Given the description of an element on the screen output the (x, y) to click on. 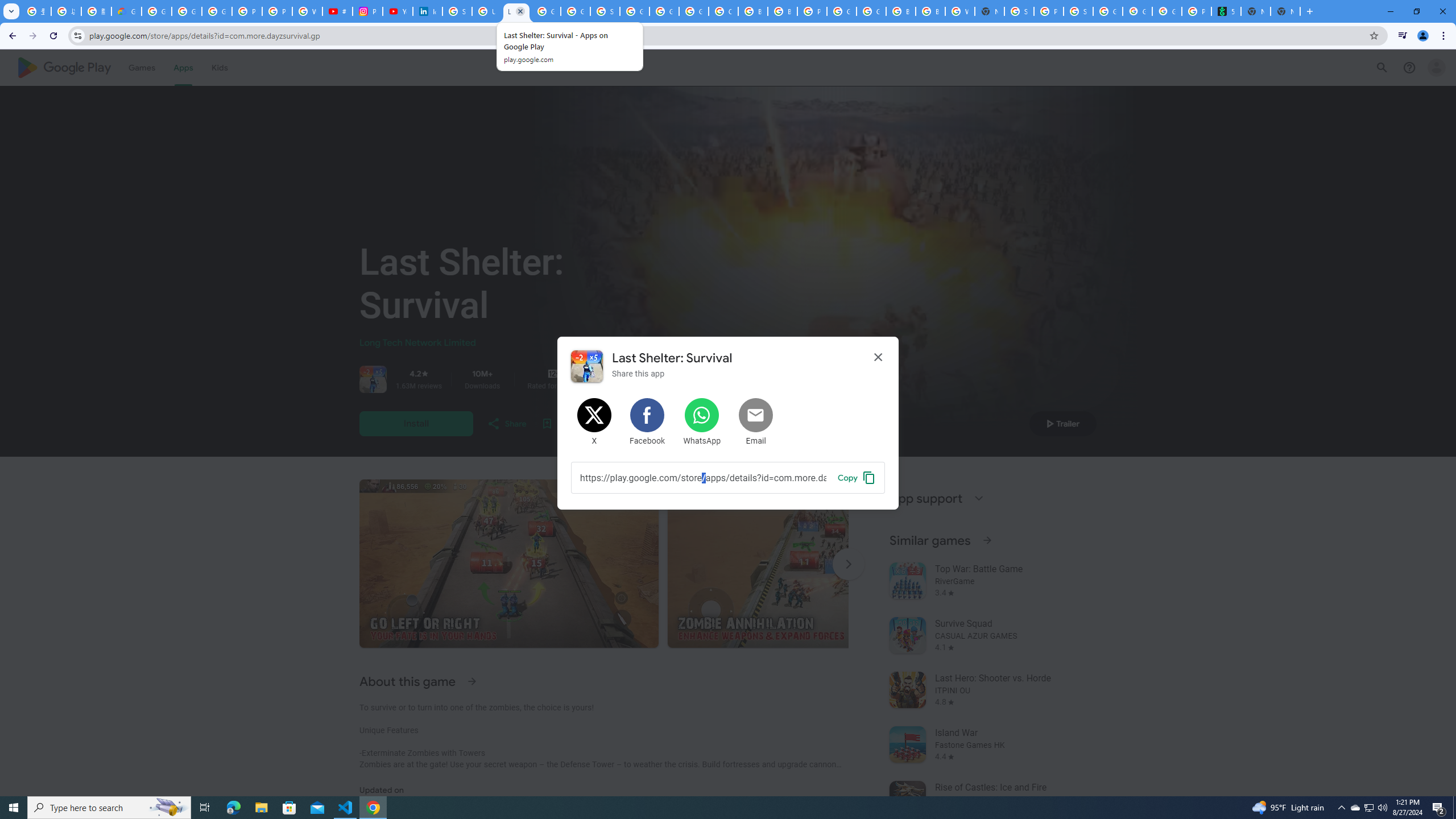
YouTube Culture & Trends - On The Rise: Handcam Videos (397, 11)
Sign in - Google Accounts (604, 11)
Share on WhatsApp (701, 421)
Last Shelter: Survival - Apps on Google Play (515, 11)
